Given the description of an element on the screen output the (x, y) to click on. 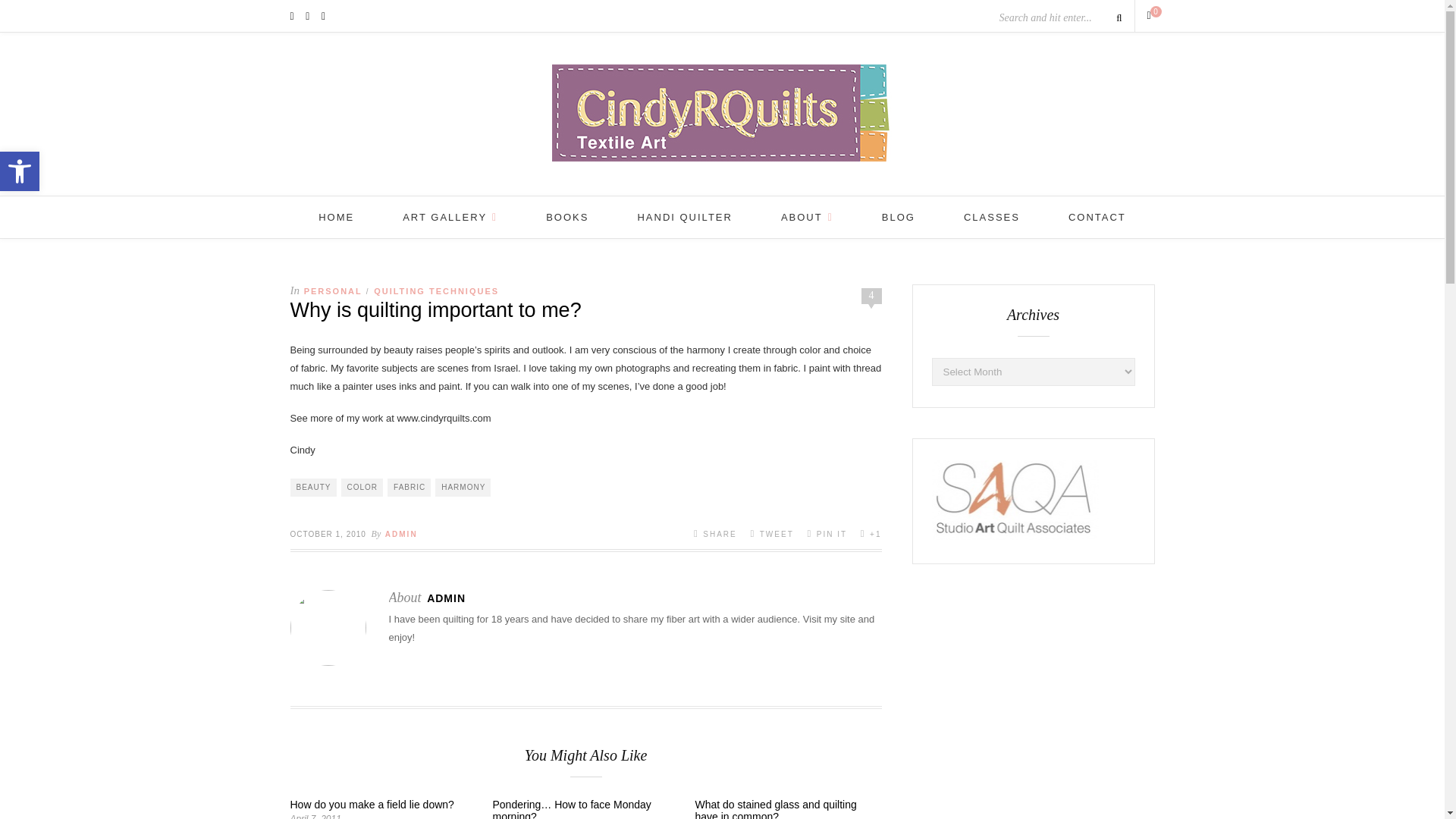
Accessibility Tools (19, 170)
Posts by admin (19, 170)
ART GALLERY (401, 533)
BOOKS (450, 217)
ABOUT (567, 217)
HANDI QUILTER (806, 217)
Posts by admin (684, 217)
CLASSES (445, 598)
CONTACT (991, 217)
